Given the description of an element on the screen output the (x, y) to click on. 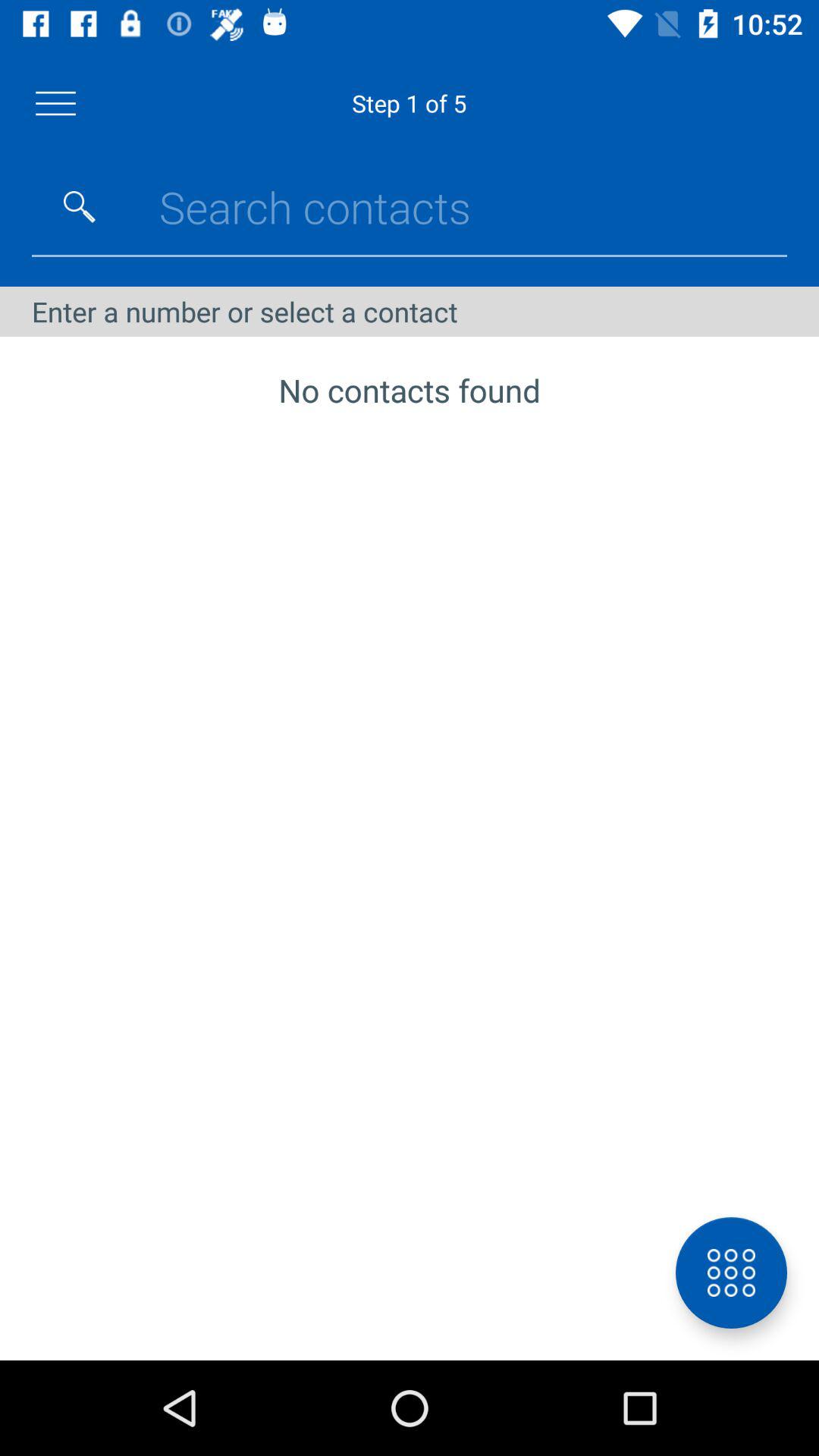
click to search (79, 206)
